Given the description of an element on the screen output the (x, y) to click on. 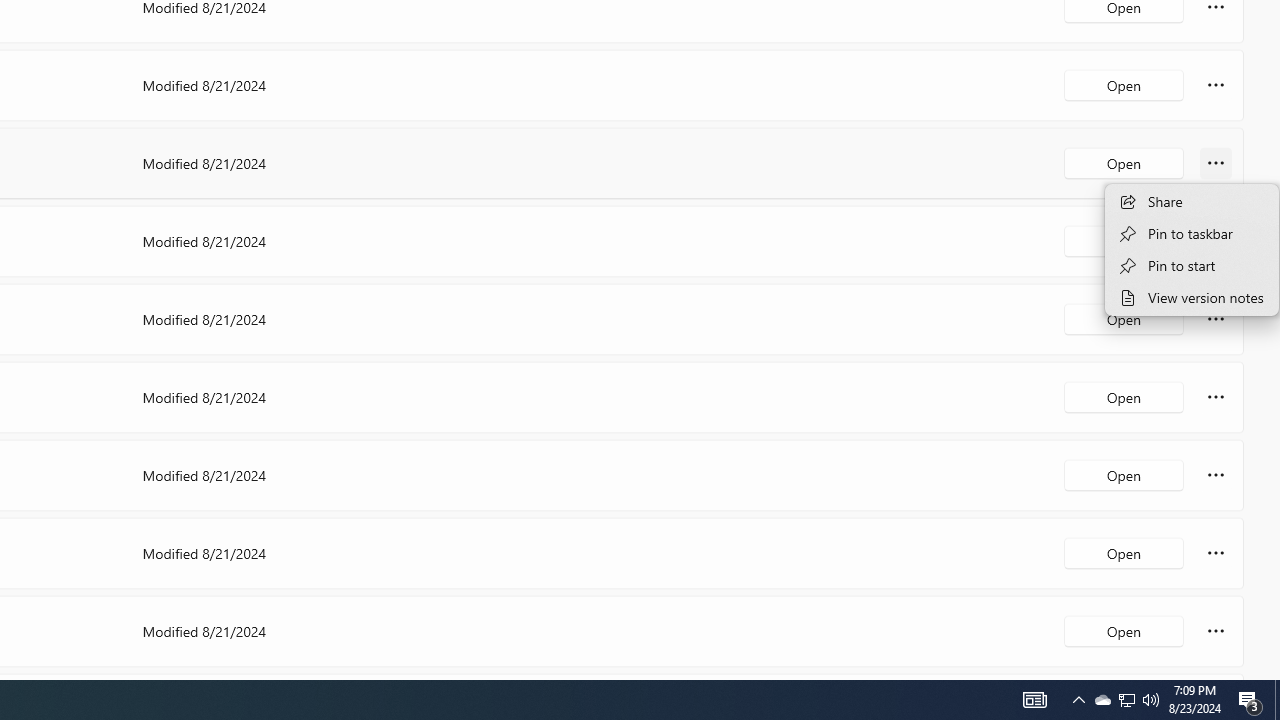
Open (1123, 630)
More options (1215, 630)
